Given the description of an element on the screen output the (x, y) to click on. 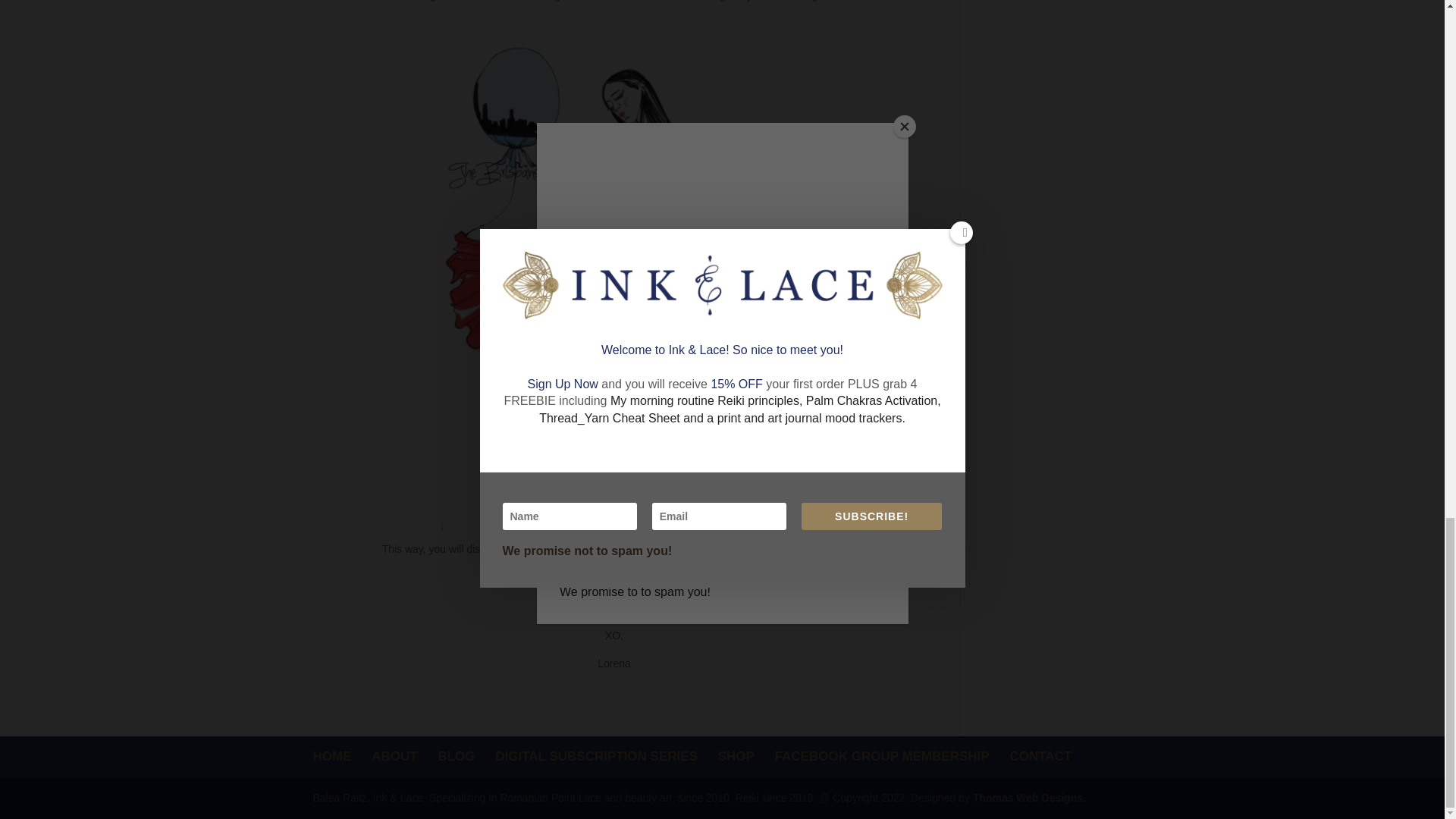
ABOUT (393, 756)
Instagram (719, 0)
HOME (331, 756)
